Given the description of an element on the screen output the (x, y) to click on. 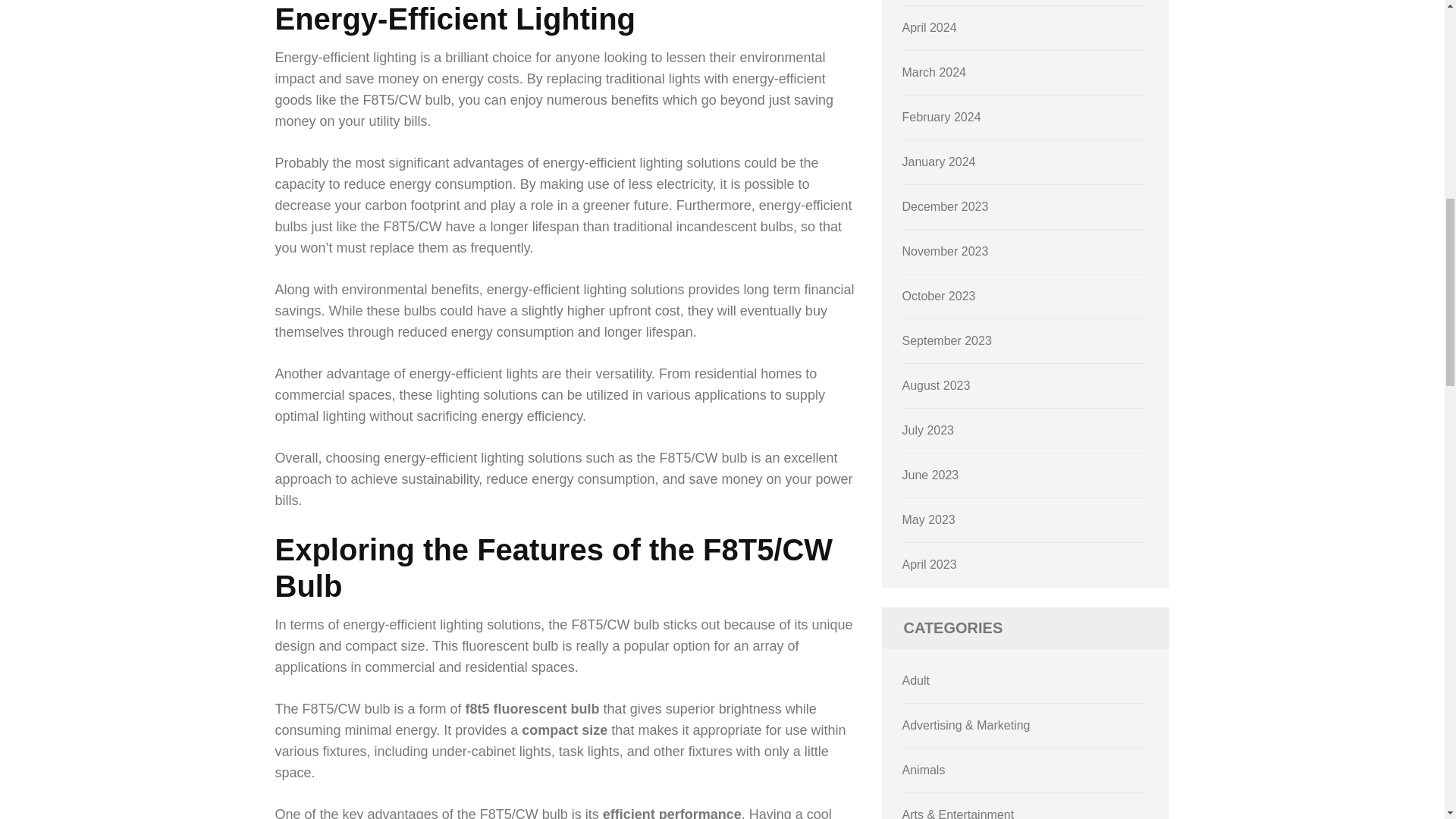
April 2023 (929, 563)
February 2024 (941, 116)
April 2024 (929, 27)
July 2023 (928, 430)
September 2023 (946, 340)
October 2023 (938, 295)
December 2023 (945, 205)
May 2023 (928, 519)
Animals (923, 769)
November 2023 (945, 250)
January 2024 (938, 161)
August 2023 (936, 385)
Adult (916, 680)
March 2024 (934, 72)
June 2023 (930, 474)
